Given the description of an element on the screen output the (x, y) to click on. 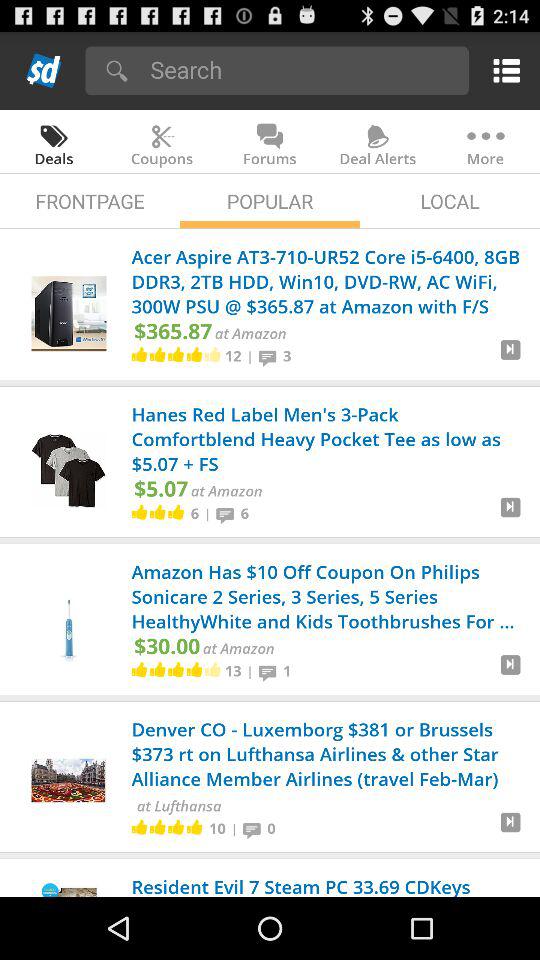
play movie (510, 357)
